Given the description of an element on the screen output the (x, y) to click on. 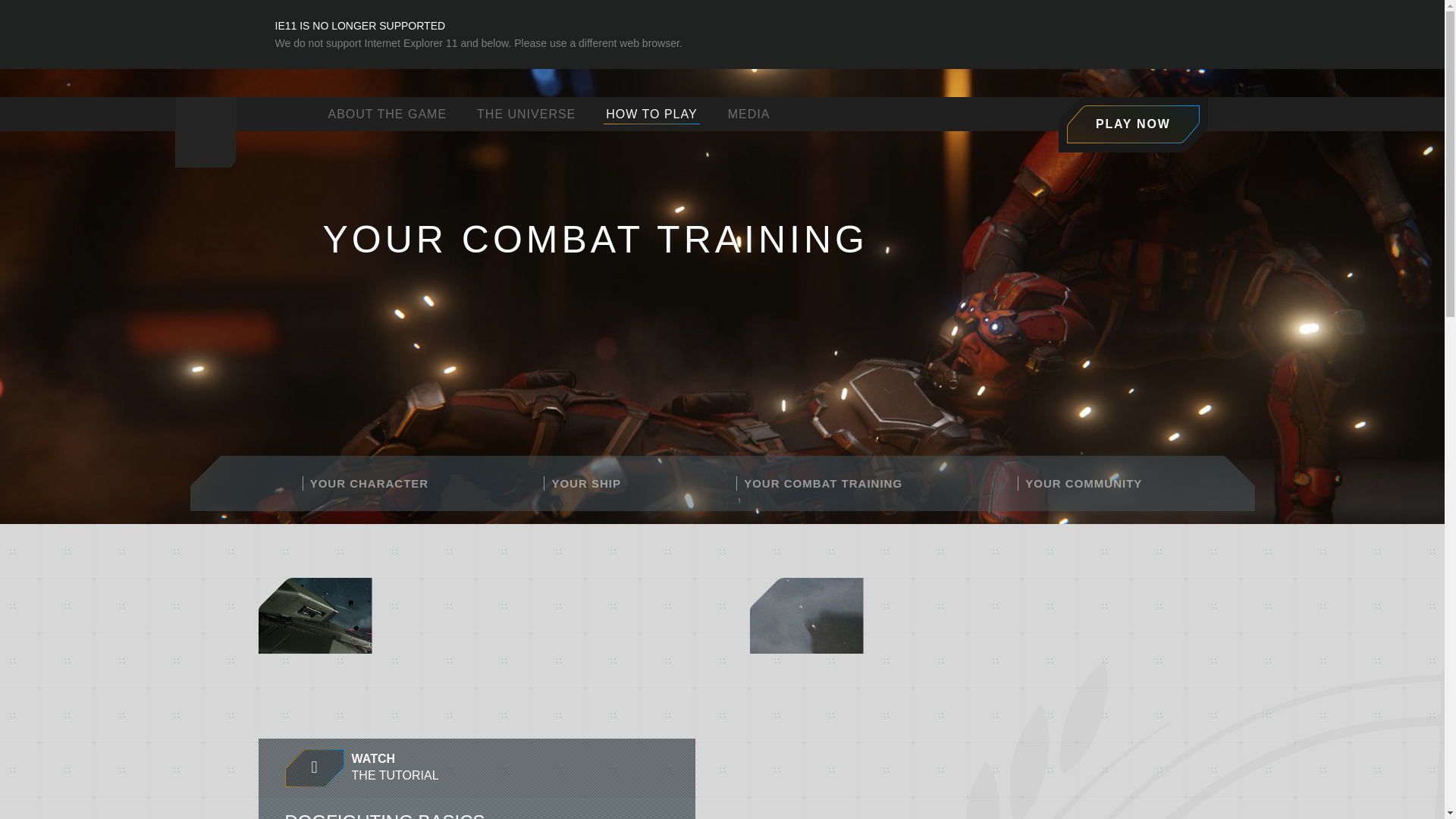
PLAY NOW (1133, 124)
THE UNIVERSE (526, 113)
YOUR CHARACTER (365, 483)
HOW TO PLAY (651, 113)
YOUR SHIP (582, 483)
MEDIA (749, 113)
YOUR COMBAT TRAINING (819, 483)
ABOUT THE GAME (386, 113)
YOUR COMMUNITY (314, 768)
